Given the description of an element on the screen output the (x, y) to click on. 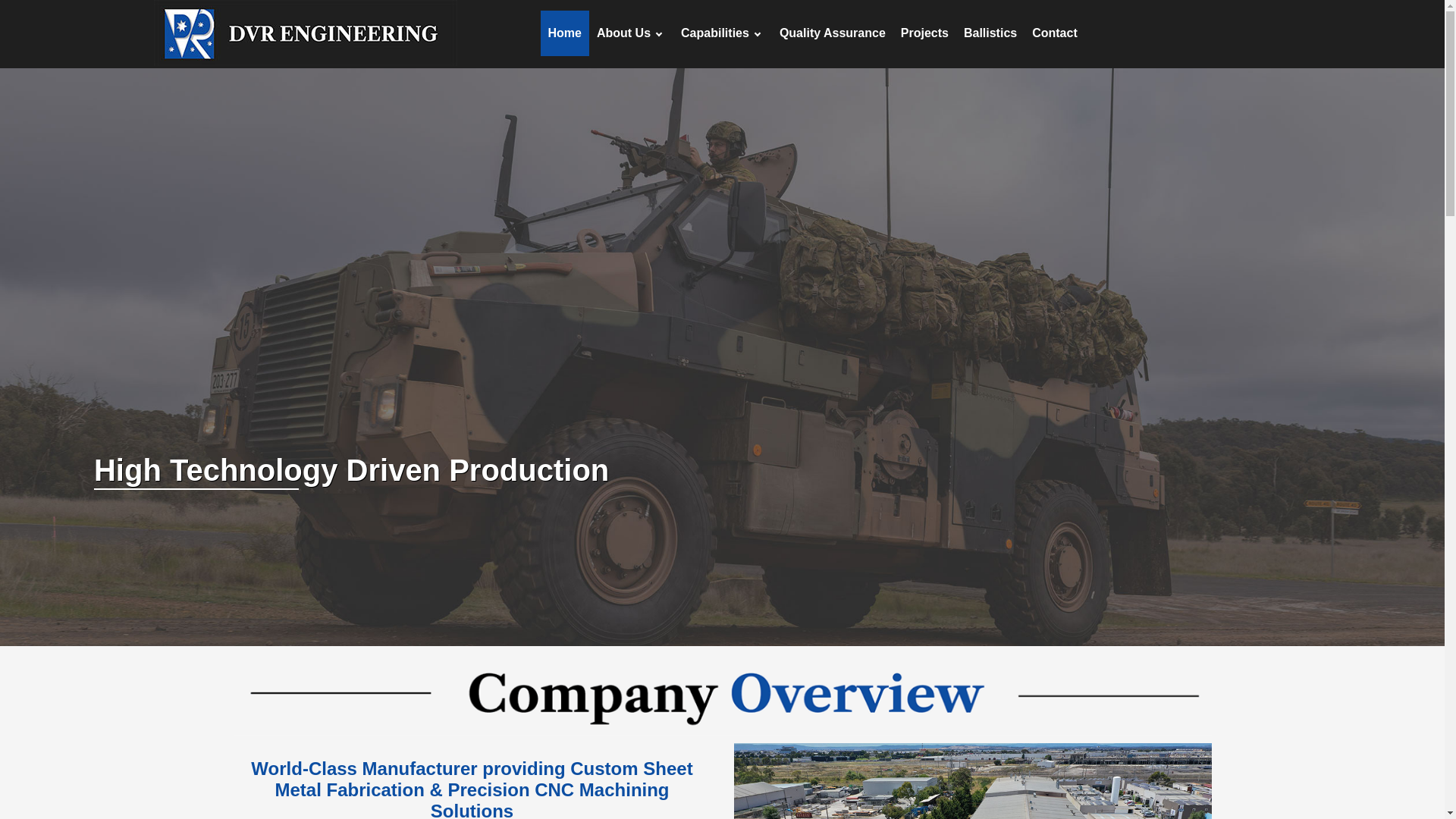
Projects Element type: text (924, 33)
Contact Element type: text (1054, 33)
Capabilities Element type: text (722, 33)
Ballistics Element type: text (990, 33)
Home Element type: text (563, 33)
About Us Element type: text (631, 33)
Quality Assurance Element type: text (832, 33)
